Given the description of an element on the screen output the (x, y) to click on. 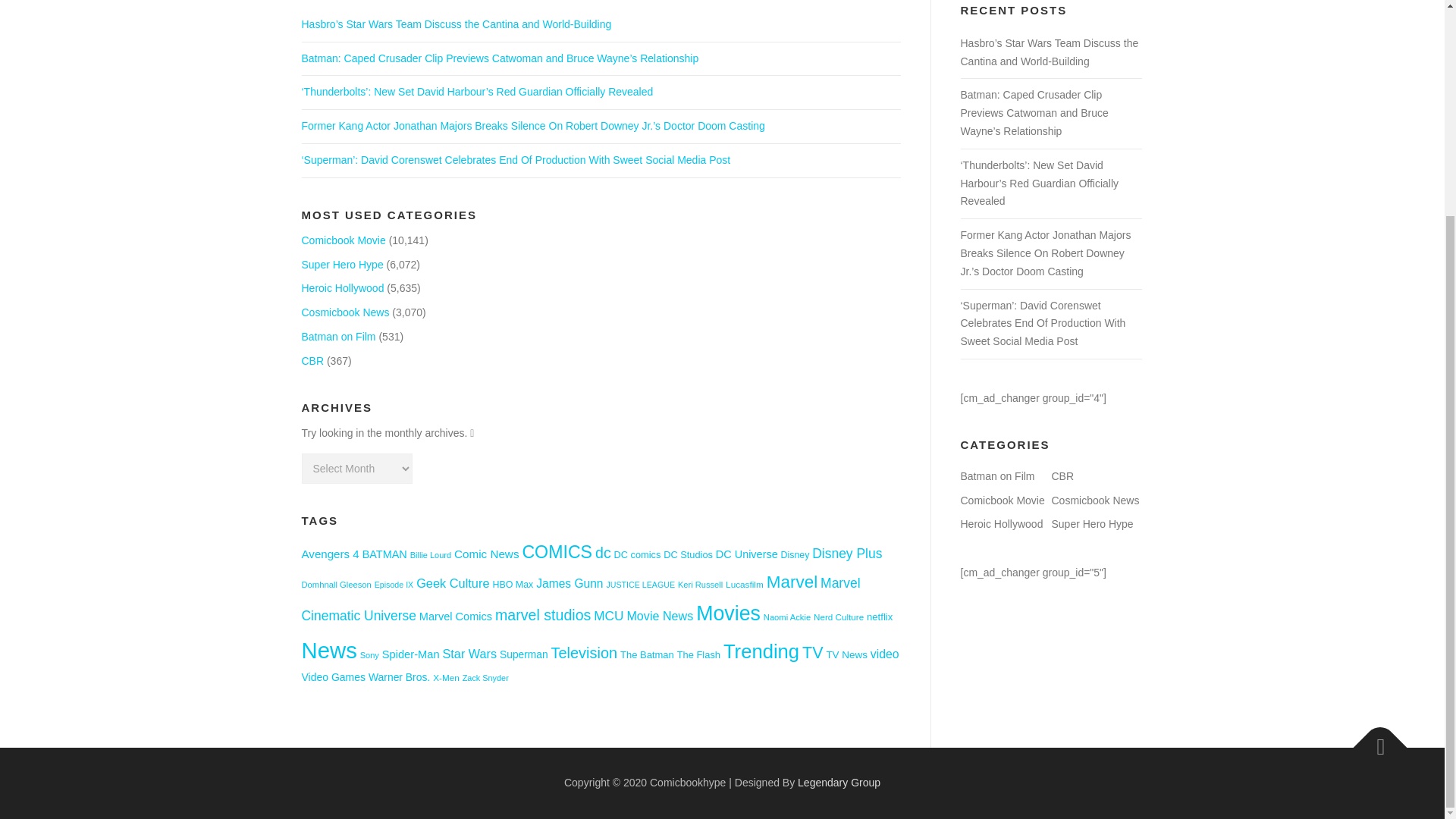
COMICS (556, 551)
Billie Lourd (430, 554)
Disney Plus (847, 553)
BATMAN (384, 553)
dc (603, 552)
Heroic Hollywood (342, 287)
Avengers 4 (330, 553)
Geek Culture (452, 582)
Super Hero Hype (342, 264)
Marvel (792, 581)
Disney (794, 554)
Comic News (486, 553)
Cosmicbook News (345, 312)
Batman on Film (338, 336)
James Gunn (568, 583)
